Given the description of an element on the screen output the (x, y) to click on. 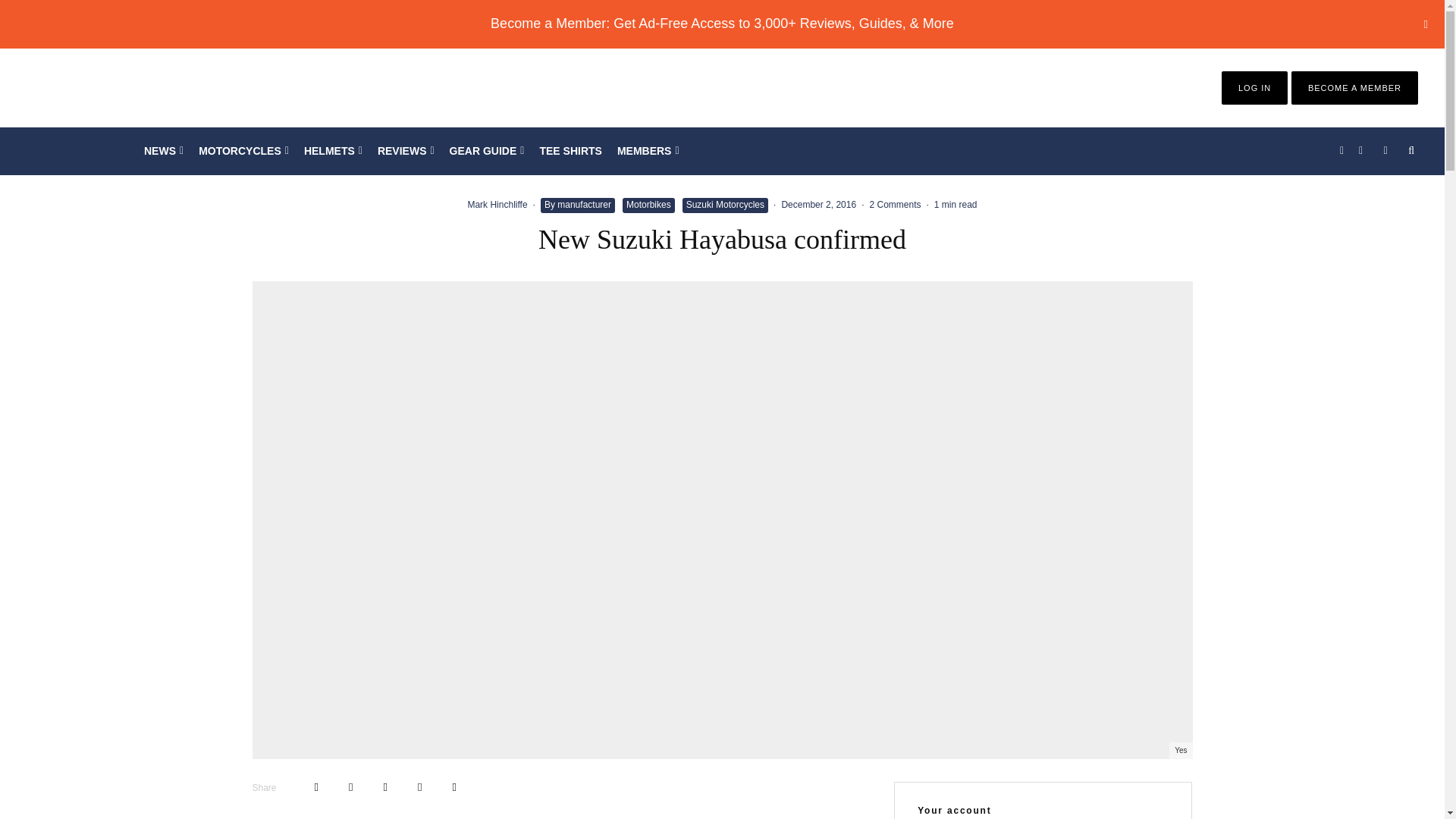
LOG IN (1255, 87)
BECOME A MEMBER (1353, 87)
NEWS (163, 150)
MOTORCYCLES (243, 150)
